Given the description of an element on the screen output the (x, y) to click on. 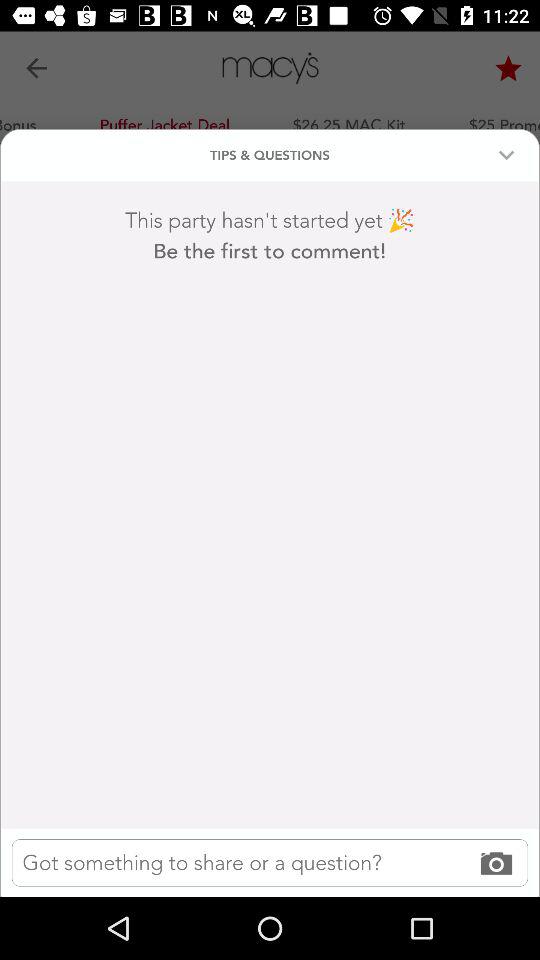
launch icon at the bottom (270, 862)
